Given the description of an element on the screen output the (x, y) to click on. 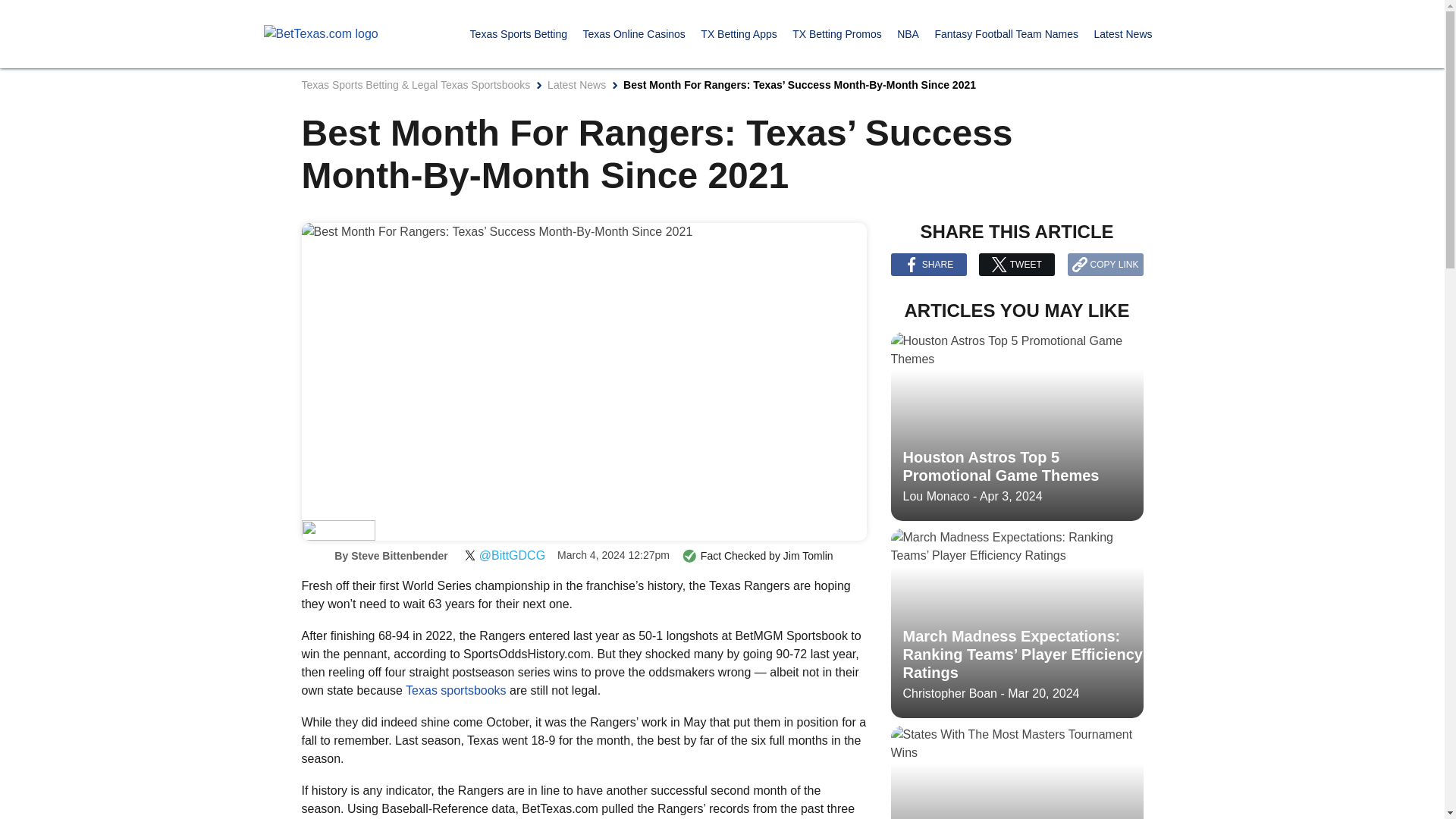
TX Betting Apps (738, 33)
States With The Most Masters Tournament Wins (1015, 772)
Latest News (576, 84)
Texas Online Casinos (633, 33)
BetTexas.com logo (320, 34)
Fantasy Football Team Names (1006, 33)
Houston Astros Top 5 Promotional Game Themes (1015, 426)
TX Betting Promos (837, 33)
Latest News (1122, 33)
Texas Sports Betting (518, 33)
